Given the description of an element on the screen output the (x, y) to click on. 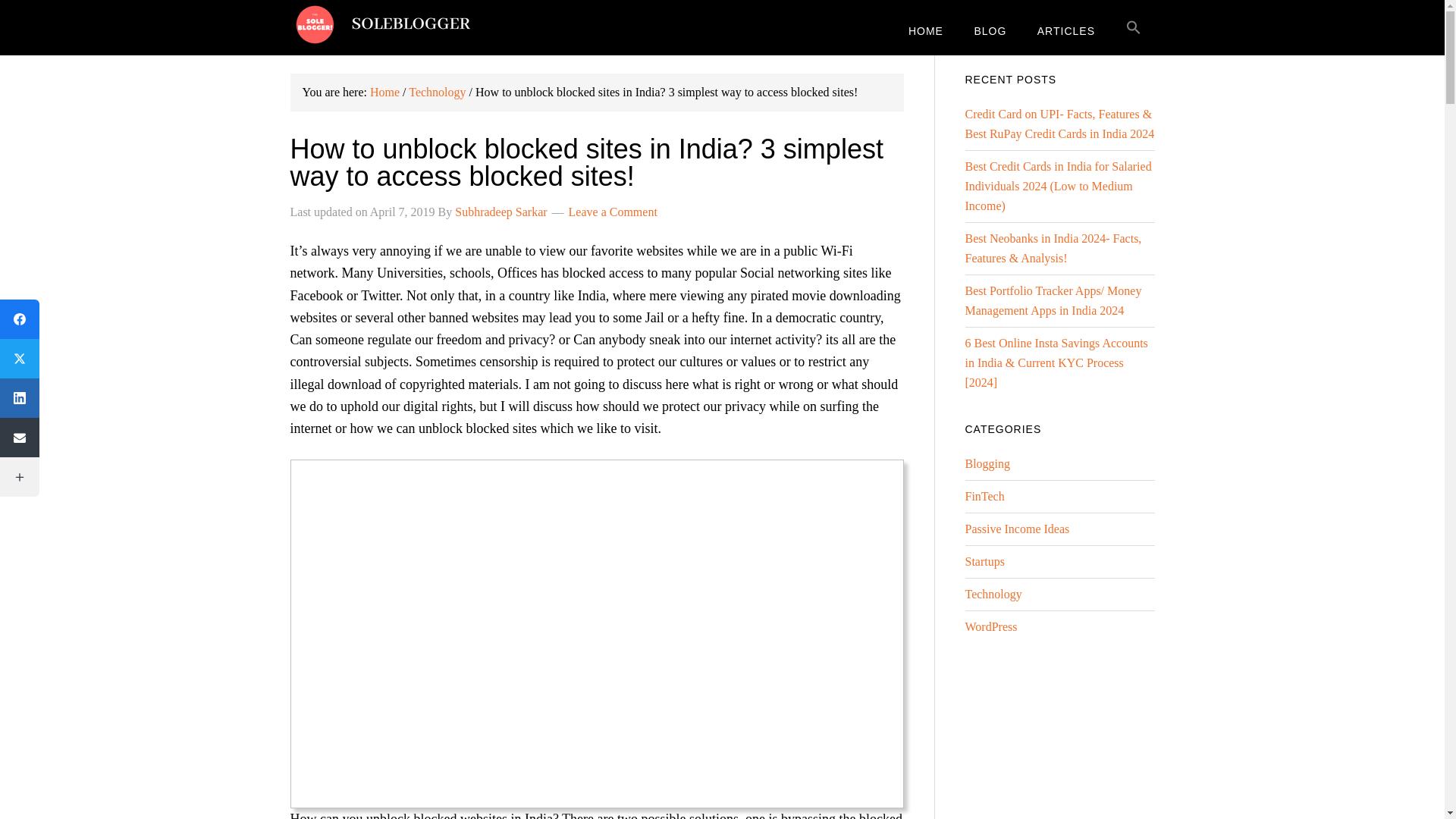
HOME (925, 30)
ARTICLES (1065, 30)
BLOG (989, 30)
SOLEBLOGGER.COM (410, 24)
Technology (437, 91)
Subhradeep Sarkar (500, 211)
Home (383, 91)
Leave a Comment (613, 211)
